Given the description of an element on the screen output the (x, y) to click on. 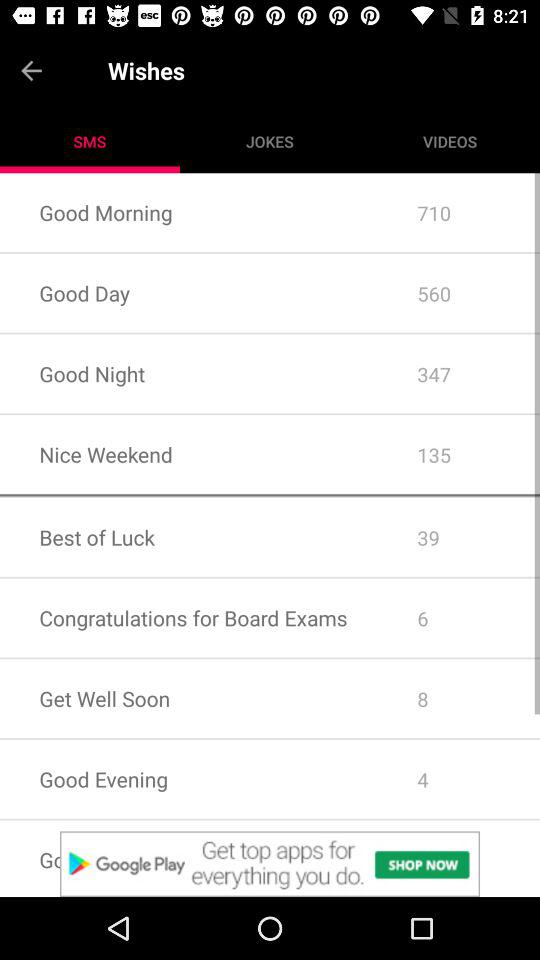
select the 6 app (458, 618)
